Given the description of an element on the screen output the (x, y) to click on. 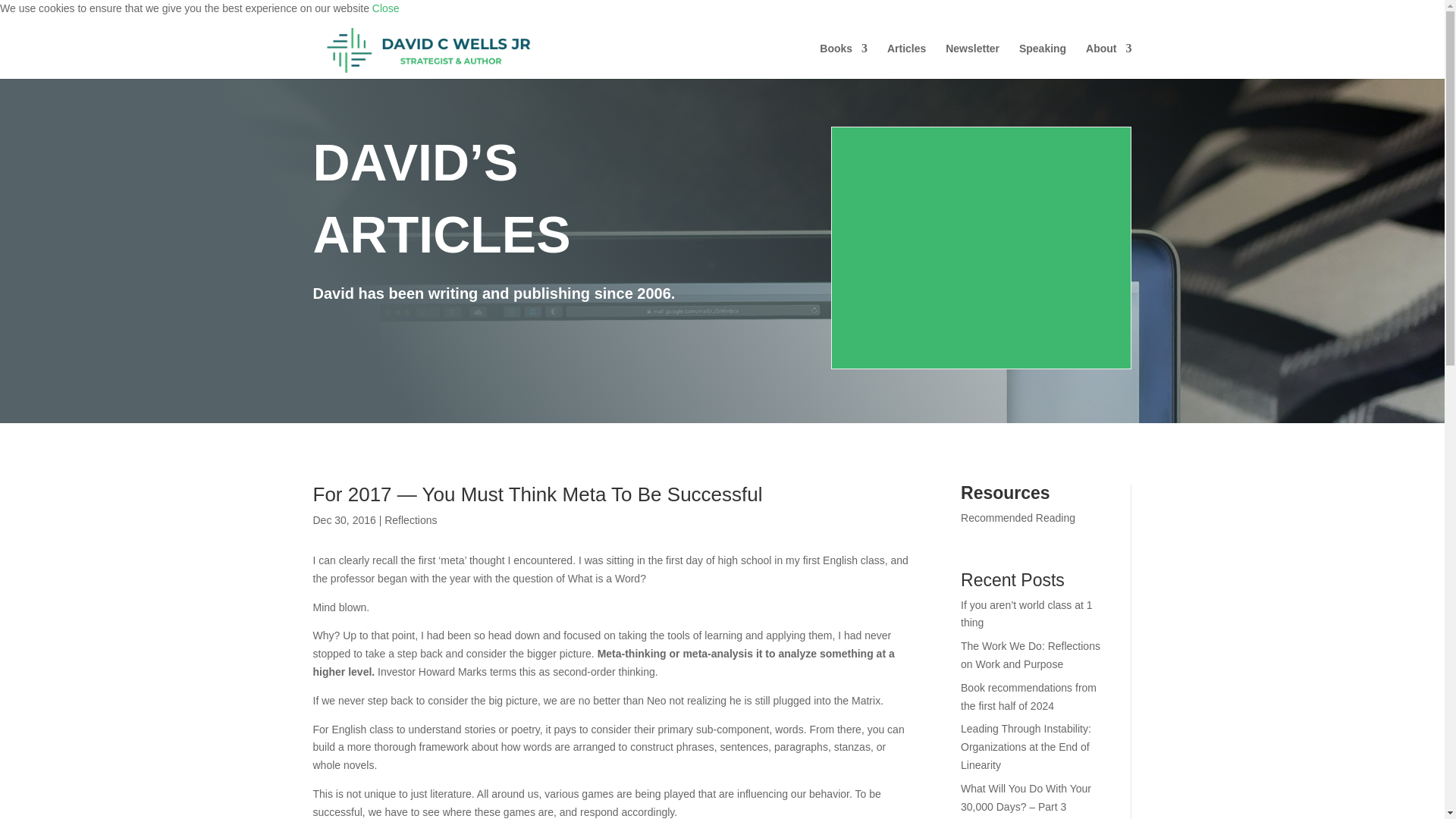
Reflections (410, 520)
The Work We Do: Reflections on Work and Purpose (1030, 654)
About (1108, 60)
Book recommendations from the first half of 2024 (1028, 696)
Speaking (1042, 60)
Books (843, 60)
Recommended Reading (1017, 517)
Articles (906, 60)
Close (385, 8)
Newsletter (971, 60)
